Given the description of an element on the screen output the (x, y) to click on. 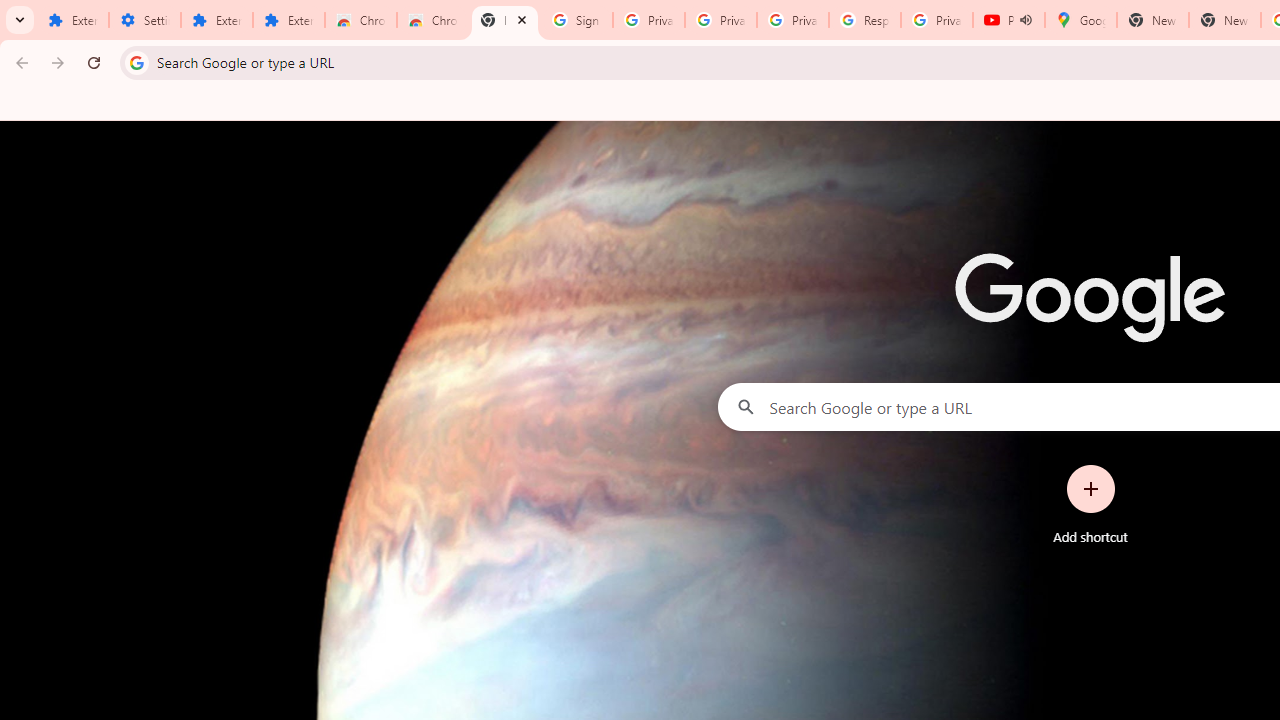
Google Maps (1080, 20)
Extensions (72, 20)
Extensions (216, 20)
New Tab (1224, 20)
